Given the description of an element on the screen output the (x, y) to click on. 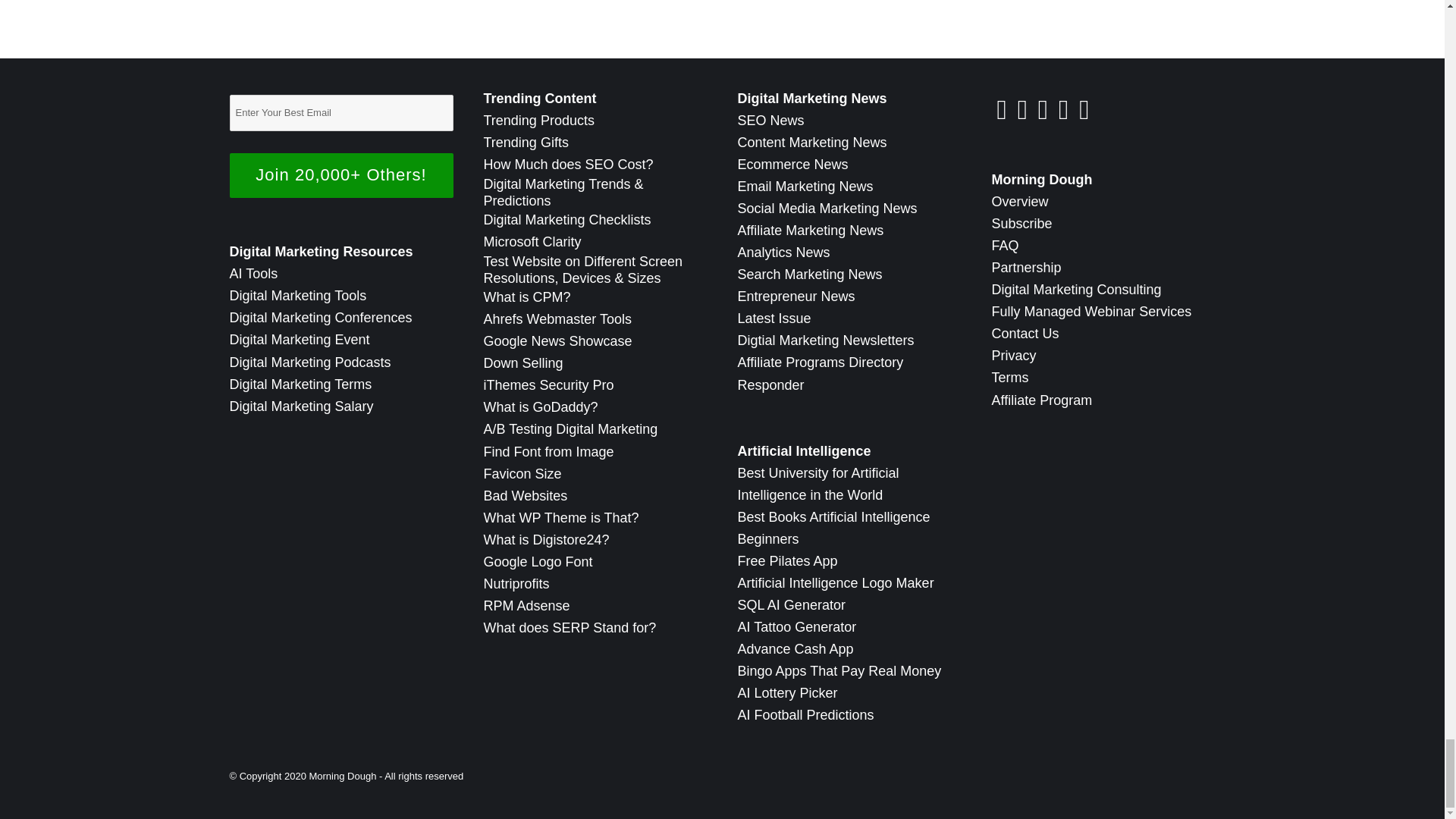
AI Tools (253, 273)
Digital Marketing Tools (297, 295)
